Given the description of an element on the screen output the (x, y) to click on. 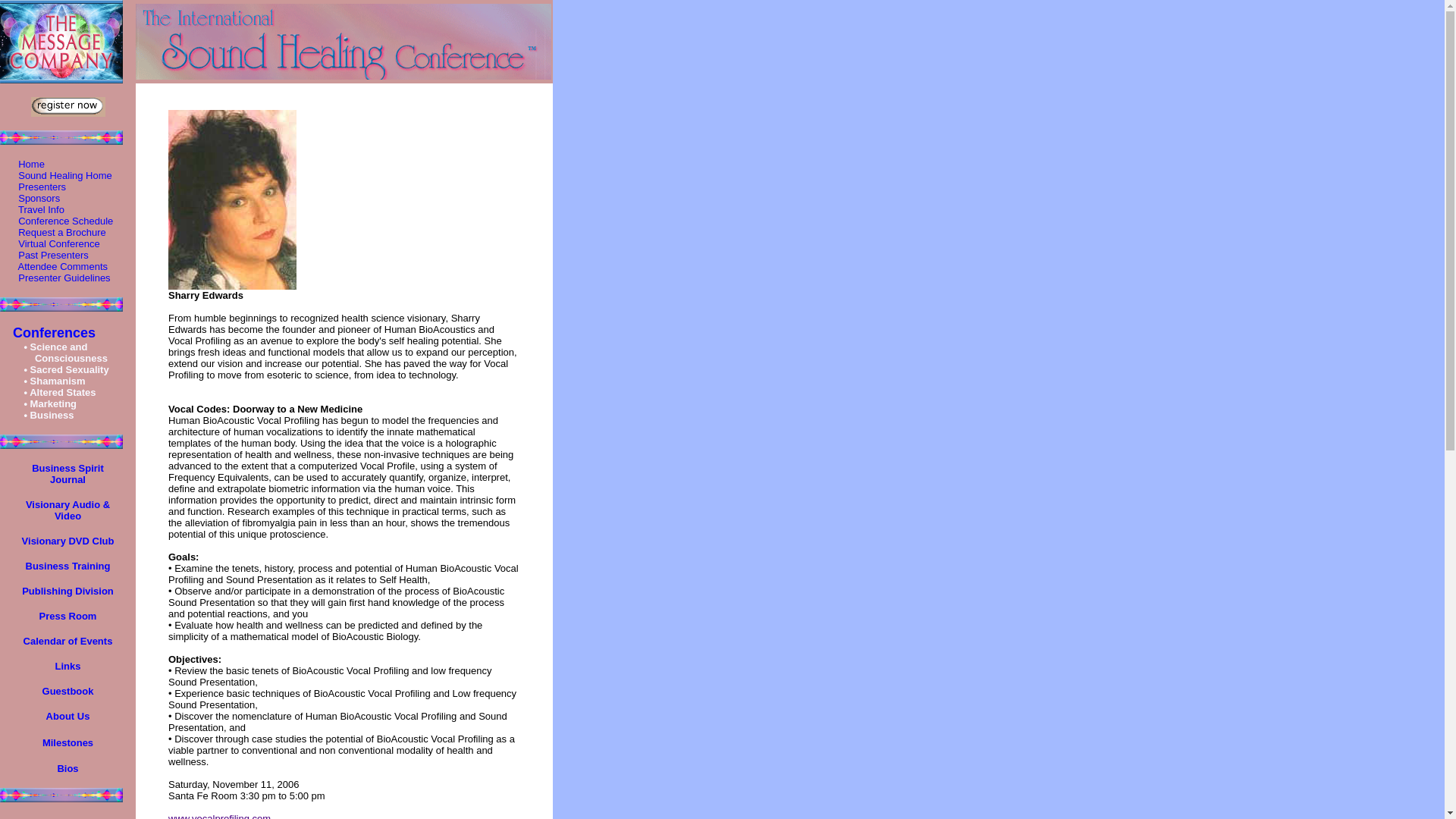
Business Training (68, 564)
Santa Fe travel Info (38, 209)
  Home (29, 163)
Bios (67, 767)
The Message Company Home Page (61, 41)
Presenters (39, 186)
International Conference on Business and Consciousness (43, 413)
Sound Healing Home Page (62, 174)
About Us (68, 715)
Marketing BootCamp for Artists and Craftspeople (45, 402)
